Given the description of an element on the screen output the (x, y) to click on. 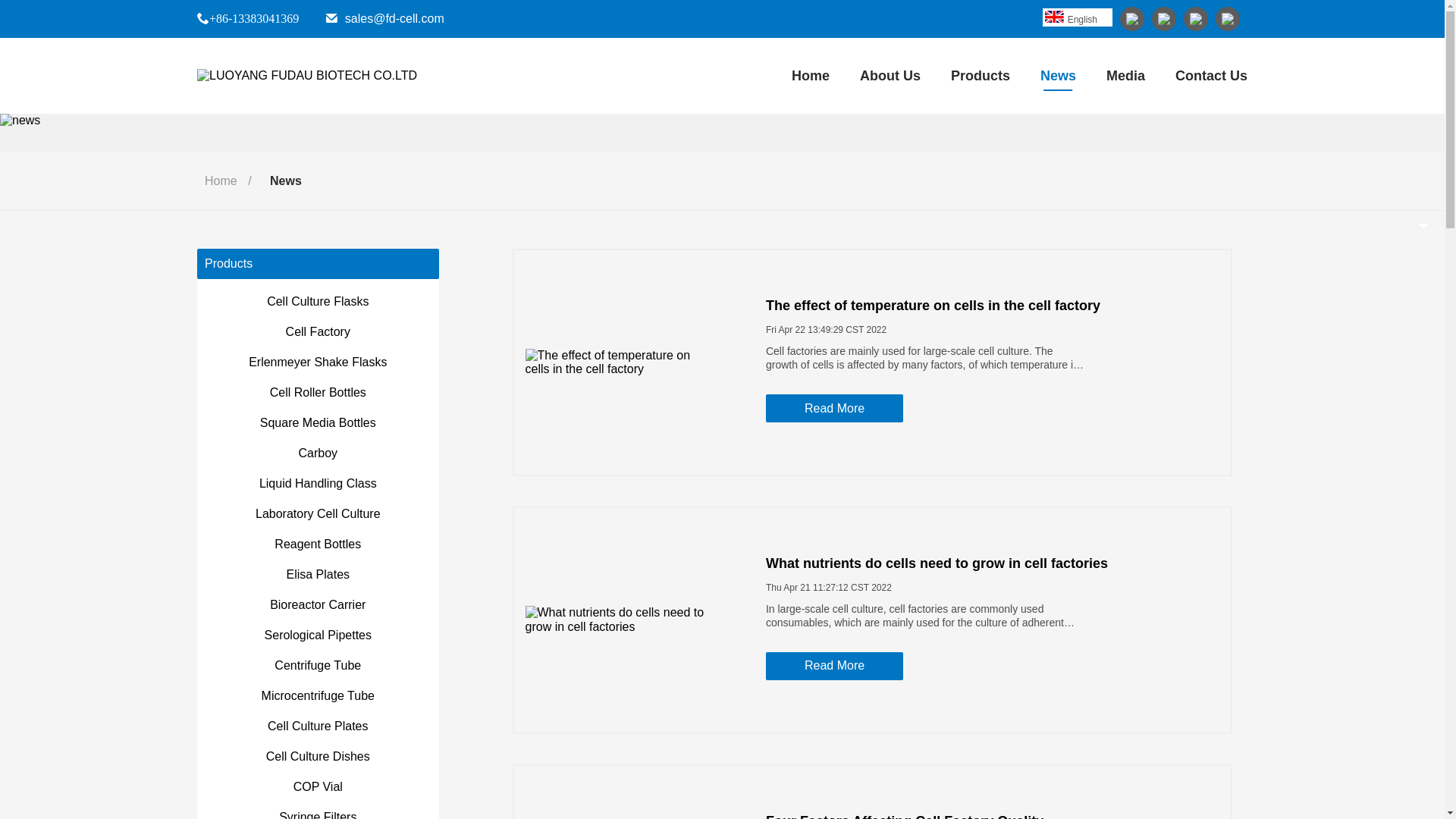
Go to Dshow Machinery Co.,Ltd (306, 75)
LUOYANG FUDAU BIOTECH CO.LTD (306, 75)
English (1056, 16)
